Given the description of an element on the screen output the (x, y) to click on. 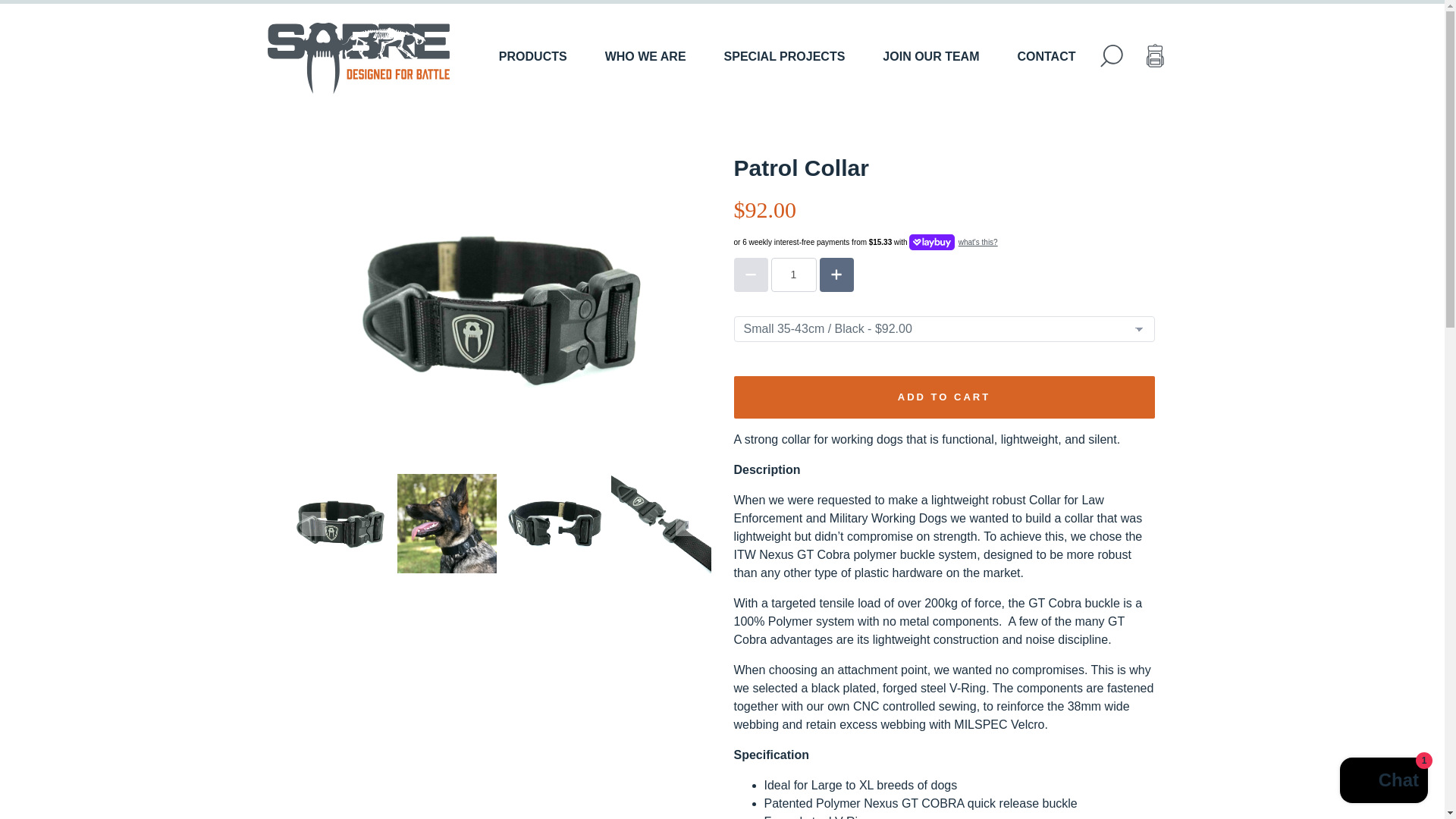
JOIN OUR TEAM (930, 56)
PRODUCTS (533, 56)
CONTACT (1045, 56)
WHO WE ARE (645, 56)
ADD TO CART (943, 396)
1 (792, 274)
Shopify online store chat (1383, 781)
SPECIAL PROJECTS (784, 56)
what's this? (976, 242)
